Given the description of an element on the screen output the (x, y) to click on. 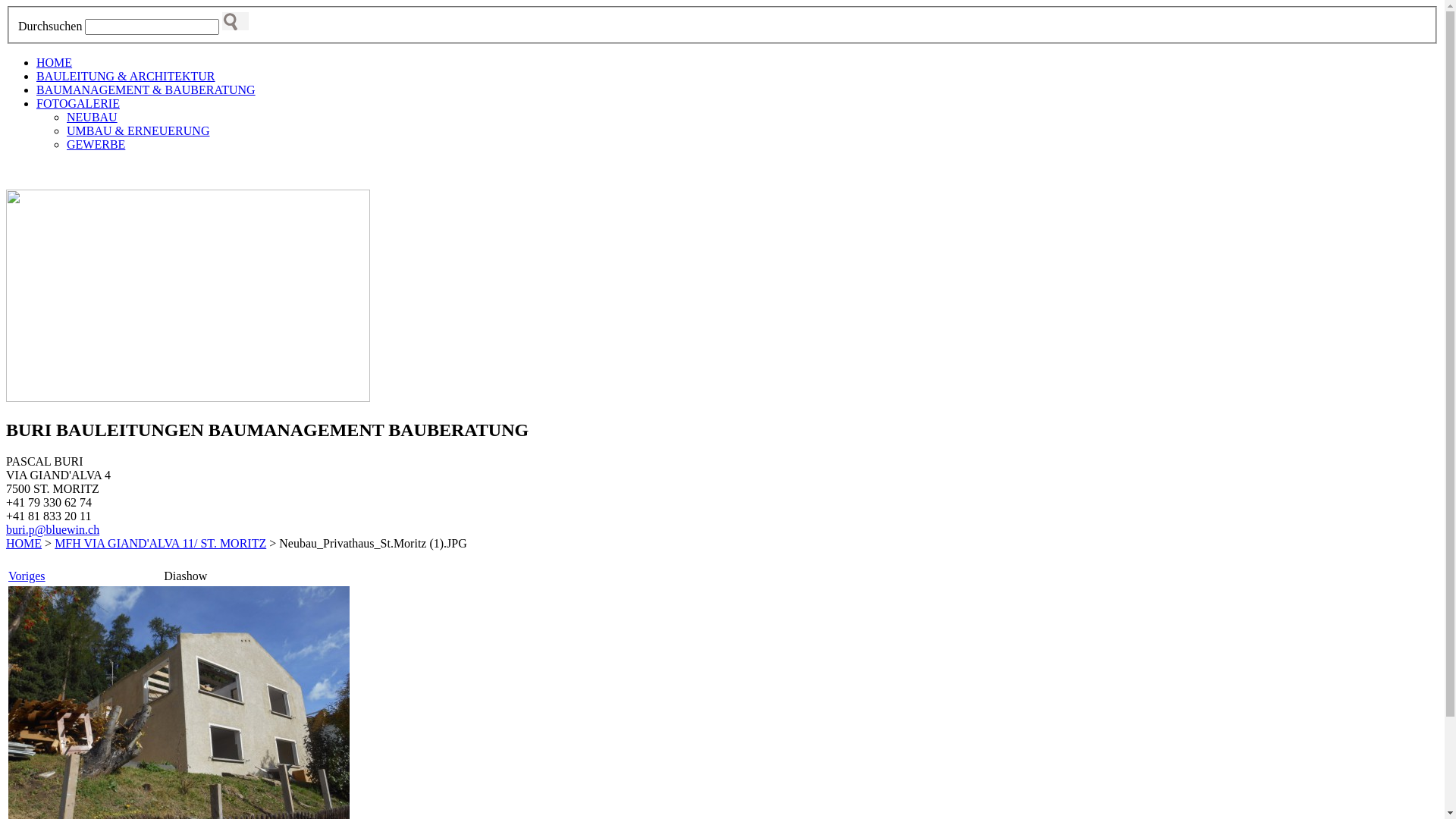
MFH VIA GIAND'ALVA 11/ ST. MORITZ Element type: text (160, 542)
BAUMANAGEMENT & BAUBERATUNG Element type: text (145, 89)
UMBAU & ERNEUERUNG Element type: text (137, 130)
Voriges Element type: text (26, 575)
FOTOGALERIE Element type: text (77, 103)
GEWERBE Element type: text (95, 144)
HOME Element type: text (23, 542)
buri.p@bluewin.ch Element type: text (52, 529)
BAULEITUNG & ARCHITEKTUR Element type: text (125, 75)
Diashow Element type: text (185, 575)
Zur Startseite Element type: hover (48, 169)
NEUBAU Element type: text (91, 116)
HOME Element type: text (54, 62)
